Given the description of an element on the screen output the (x, y) to click on. 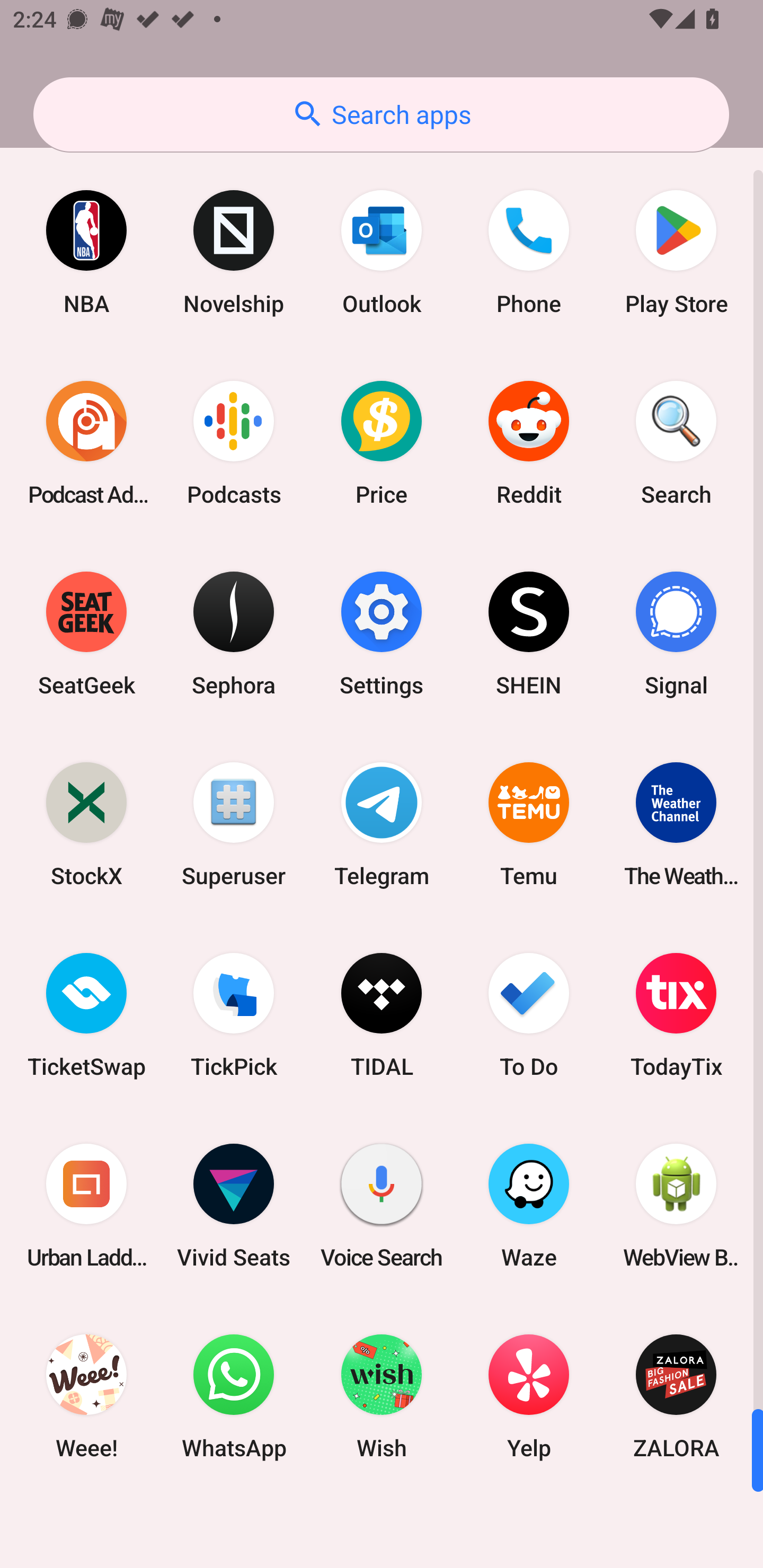
Signal (676, 633)
